Given the description of an element on the screen output the (x, y) to click on. 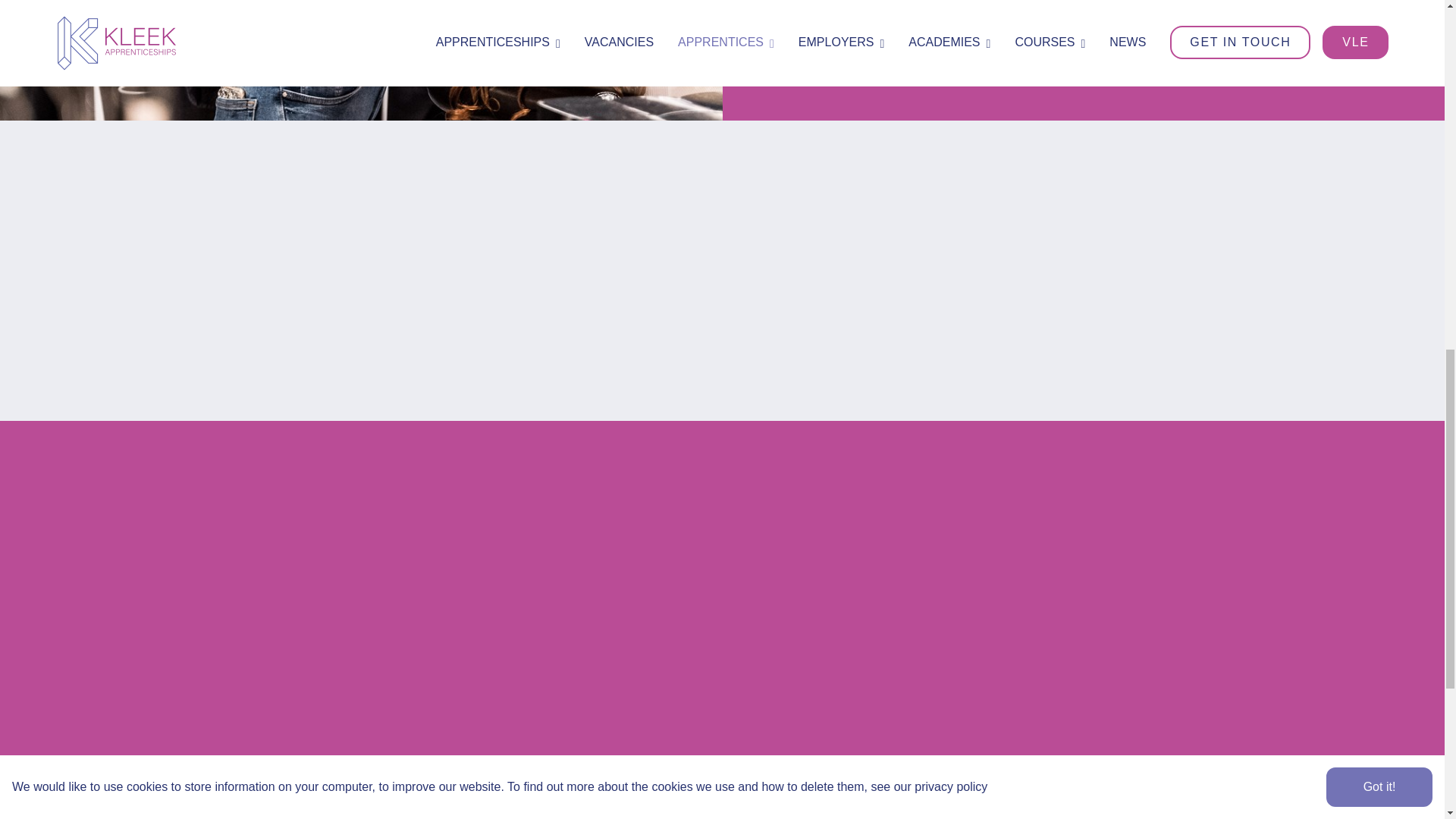
National Minimum Wage Information (1069, 52)
